Given the description of an element on the screen output the (x, y) to click on. 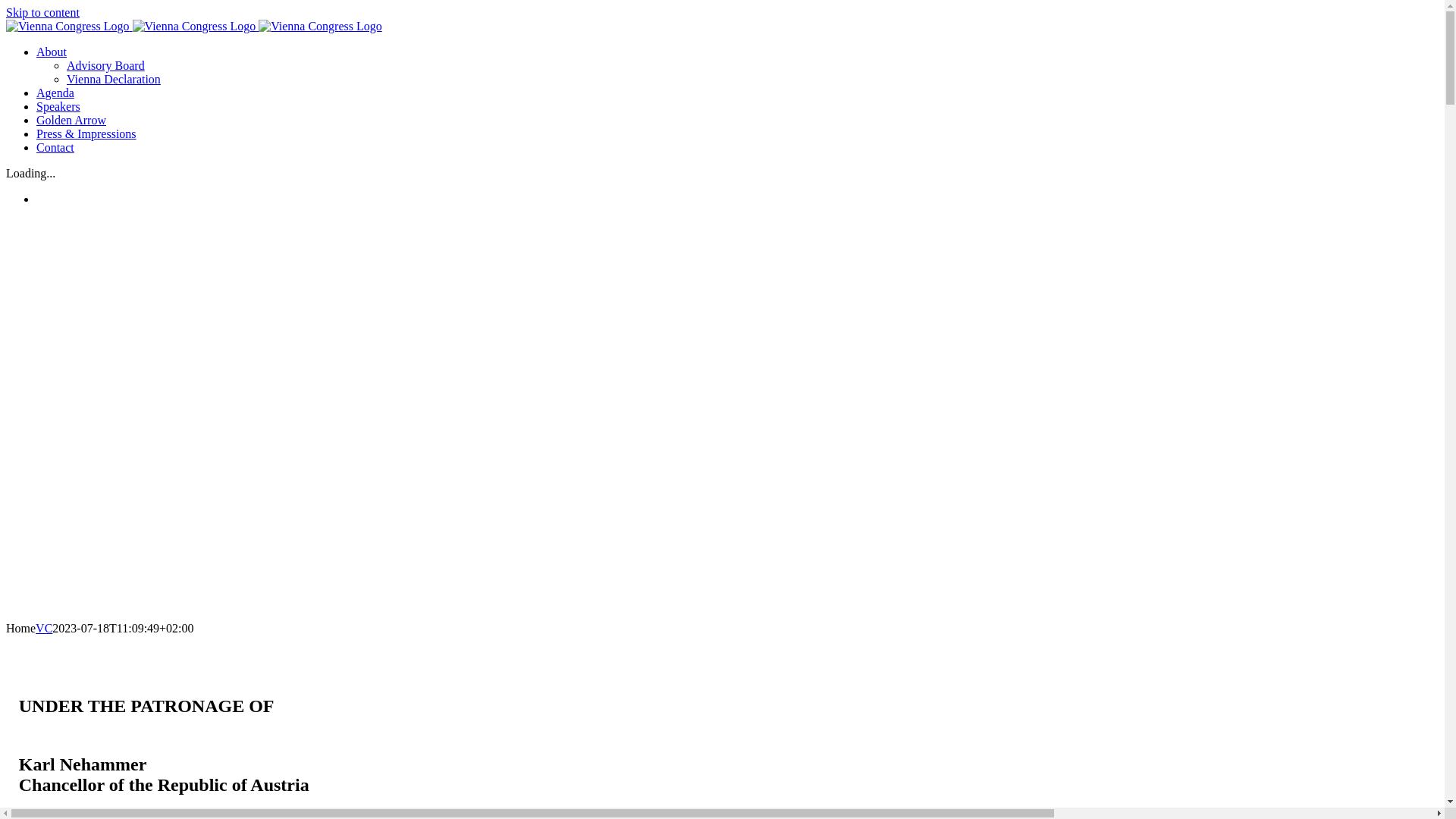
Golden Arrow Element type: text (71, 119)
Press & Impressions Element type: text (86, 133)
Contact Element type: text (55, 147)
Agenda Element type: text (55, 92)
About Element type: text (51, 51)
Skip to content Element type: text (42, 12)
VC Element type: text (43, 627)
Advisory Board Element type: text (105, 65)
Speakers Element type: text (58, 106)
Vienna Declaration Element type: text (113, 78)
